Given the description of an element on the screen output the (x, y) to click on. 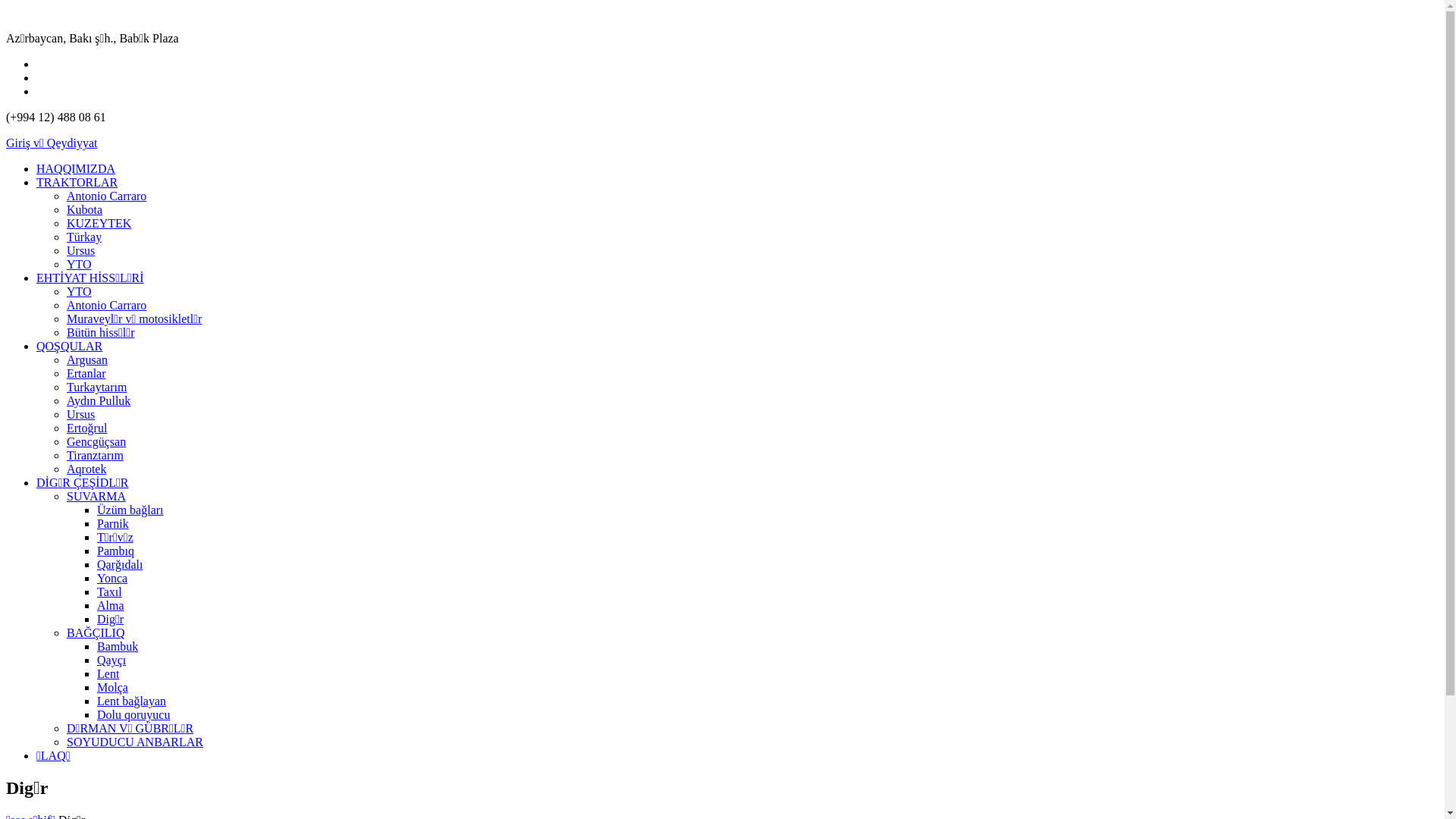
Dolu qoruyucu Element type: text (133, 714)
Kubota Element type: text (84, 209)
HAQQIMIZDA Element type: text (75, 168)
Parnik Element type: text (112, 523)
Yonca Element type: text (112, 577)
YTO Element type: text (78, 263)
Antonio Carraro Element type: text (106, 304)
SOYUDUCU ANBARLAR Element type: text (134, 741)
Alma Element type: text (110, 605)
Lent Element type: text (108, 673)
Ursus Element type: text (80, 413)
YTO Element type: text (78, 291)
Ertanlar Element type: text (86, 373)
Argusan Element type: text (86, 359)
Aqrotek Element type: text (86, 468)
Bambuk Element type: text (117, 646)
Ursus Element type: text (80, 250)
SUVARMA Element type: text (95, 495)
Antonio Carraro Element type: text (106, 195)
TRAKTORLAR Element type: text (76, 181)
KUZEYTEK Element type: text (98, 222)
